Given the description of an element on the screen output the (x, y) to click on. 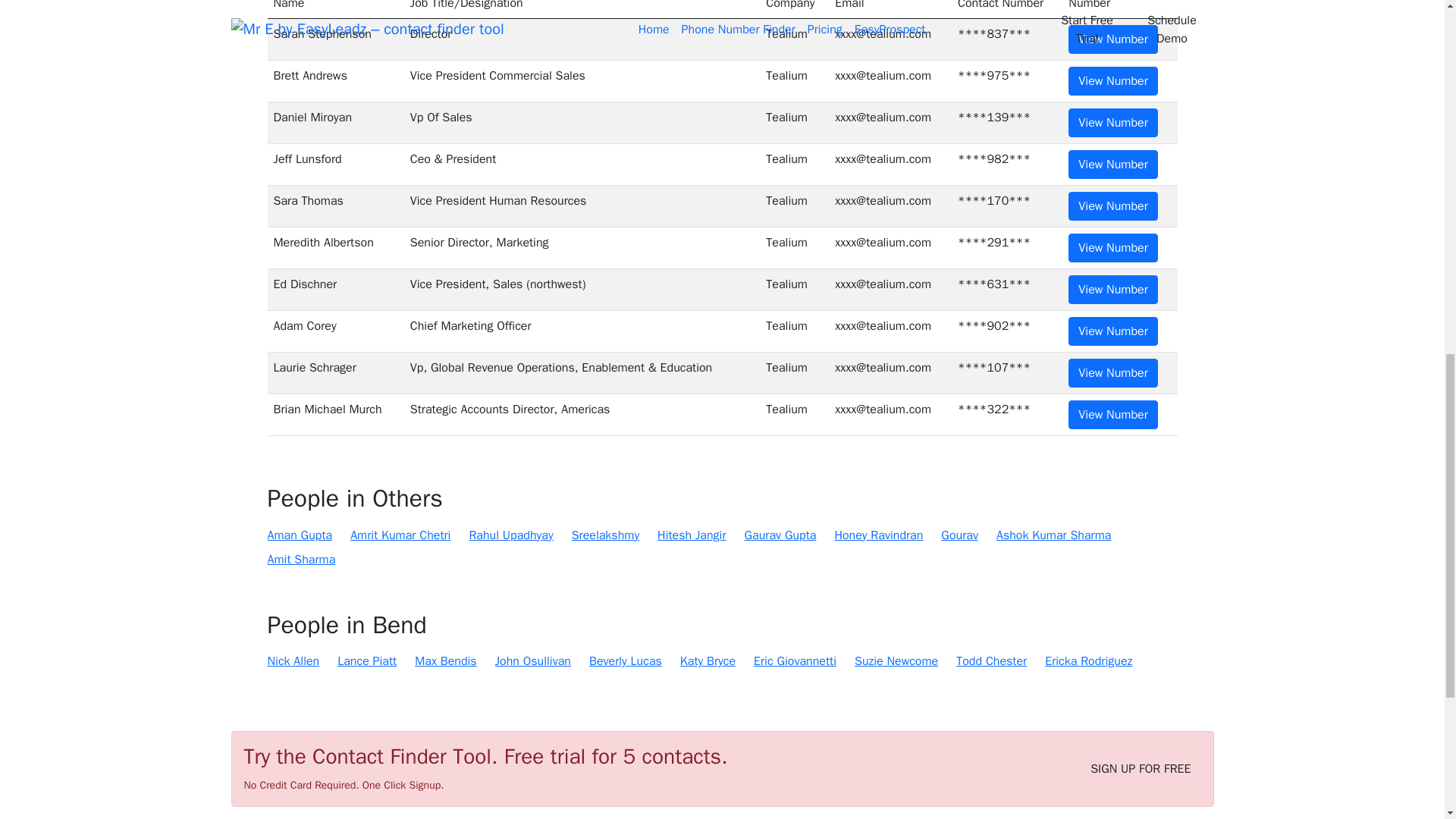
View Number (1112, 164)
Ashok Kumar Sharma (1052, 535)
Amrit Kumar Chetri (399, 535)
Nick Allen (292, 660)
Aman Gupta (298, 535)
View Number (1112, 289)
Hitesh Jangir (691, 535)
Gourav (959, 535)
Max Bendis (445, 660)
Honey Ravindran (878, 535)
View Number (1112, 330)
View Number (1112, 80)
View Number (1112, 205)
Rahul Upadhyay (510, 535)
View Number (1112, 372)
